Given the description of an element on the screen output the (x, y) to click on. 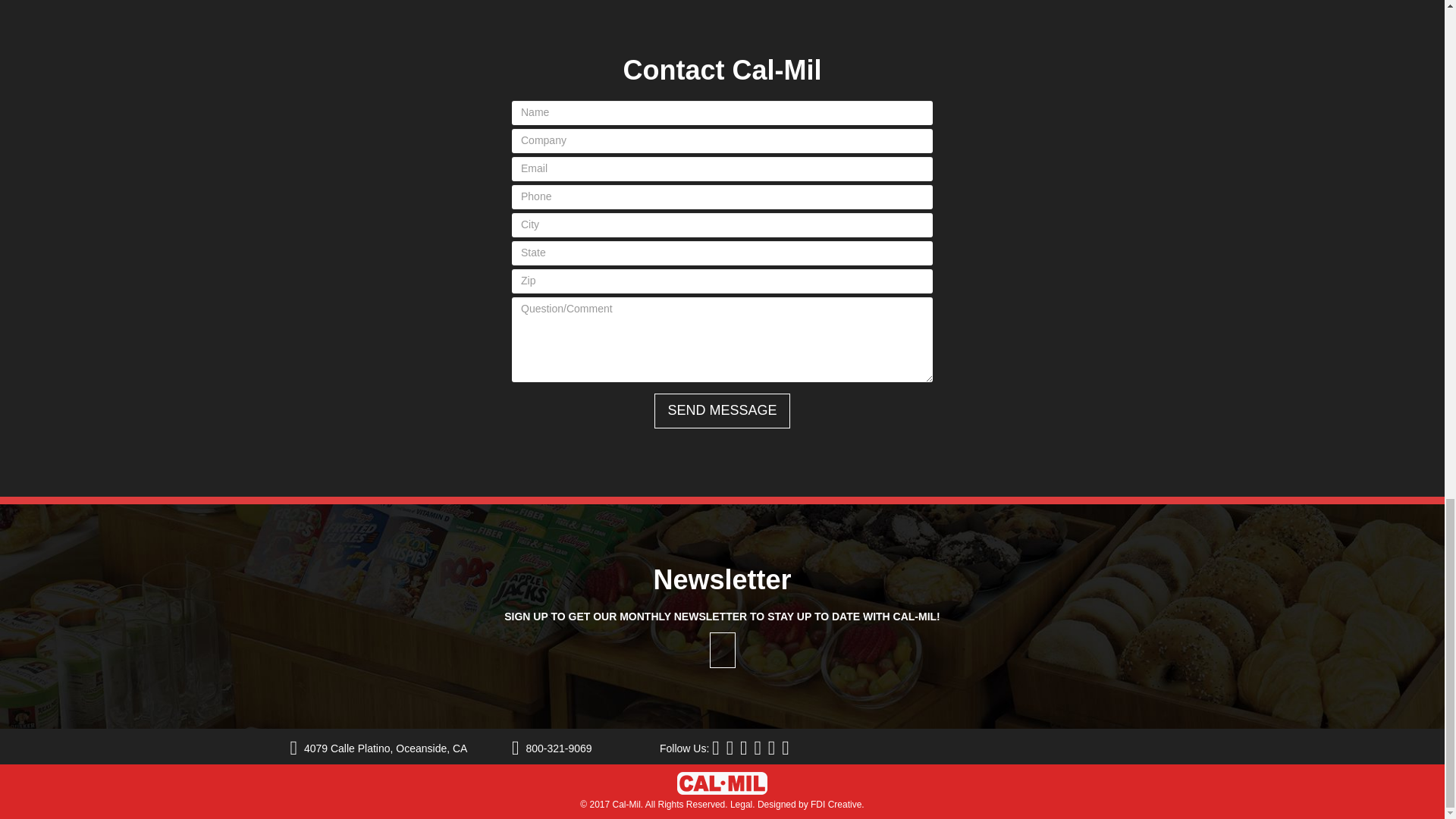
Send Message (721, 410)
Cal-Mil on Facebook (717, 748)
